Given the description of an element on the screen output the (x, y) to click on. 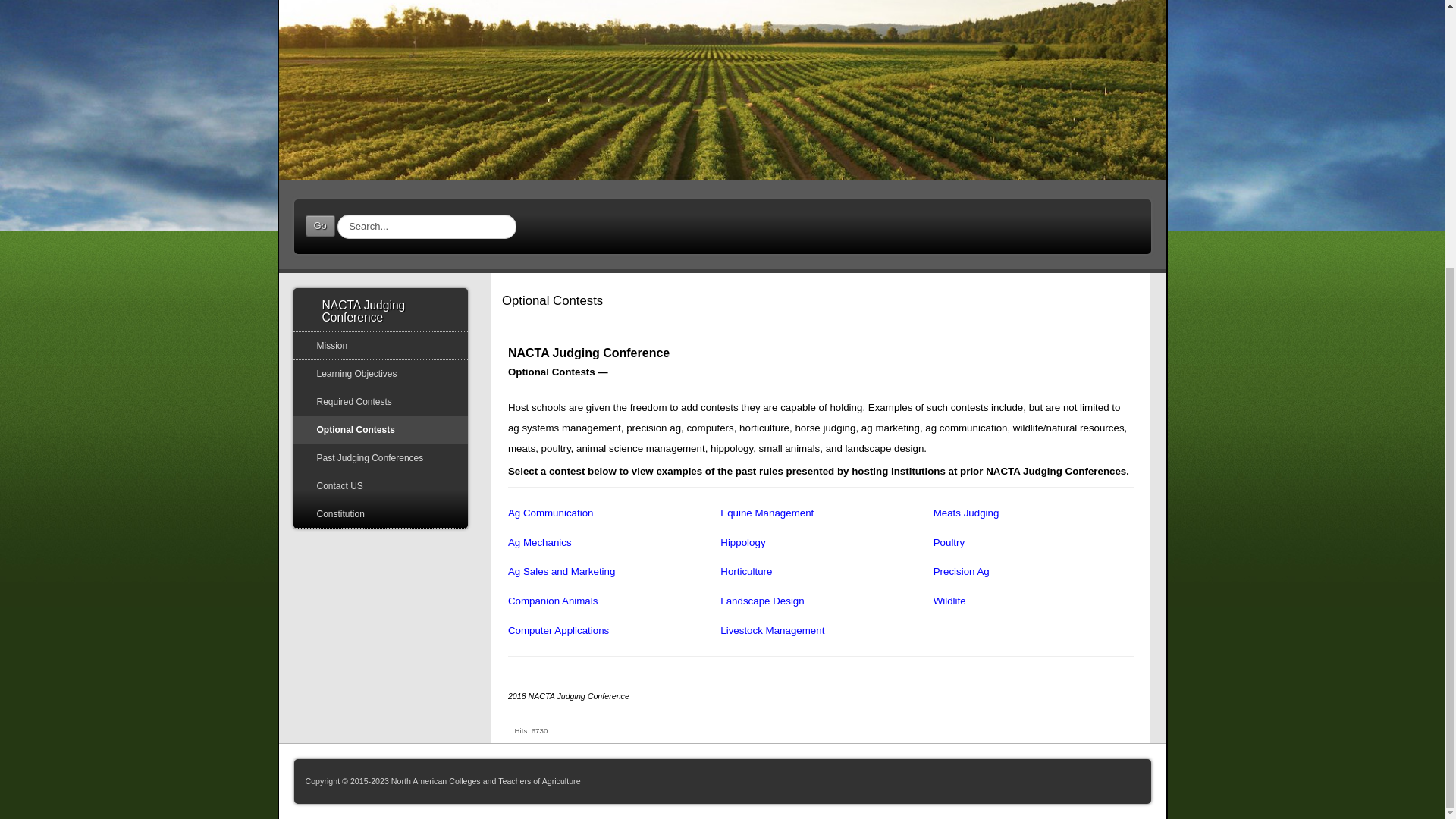
Ag Mechanics (540, 542)
Meats Judging (965, 512)
Constitution of the NACTA Judging Conference (380, 513)
Search... (426, 226)
Search... (426, 226)
Ag Communication (551, 512)
Hippology (742, 542)
Go (319, 225)
Ag Sales and Marketing (561, 571)
Equine Management (766, 512)
Poultry (948, 542)
